Given the description of an element on the screen output the (x, y) to click on. 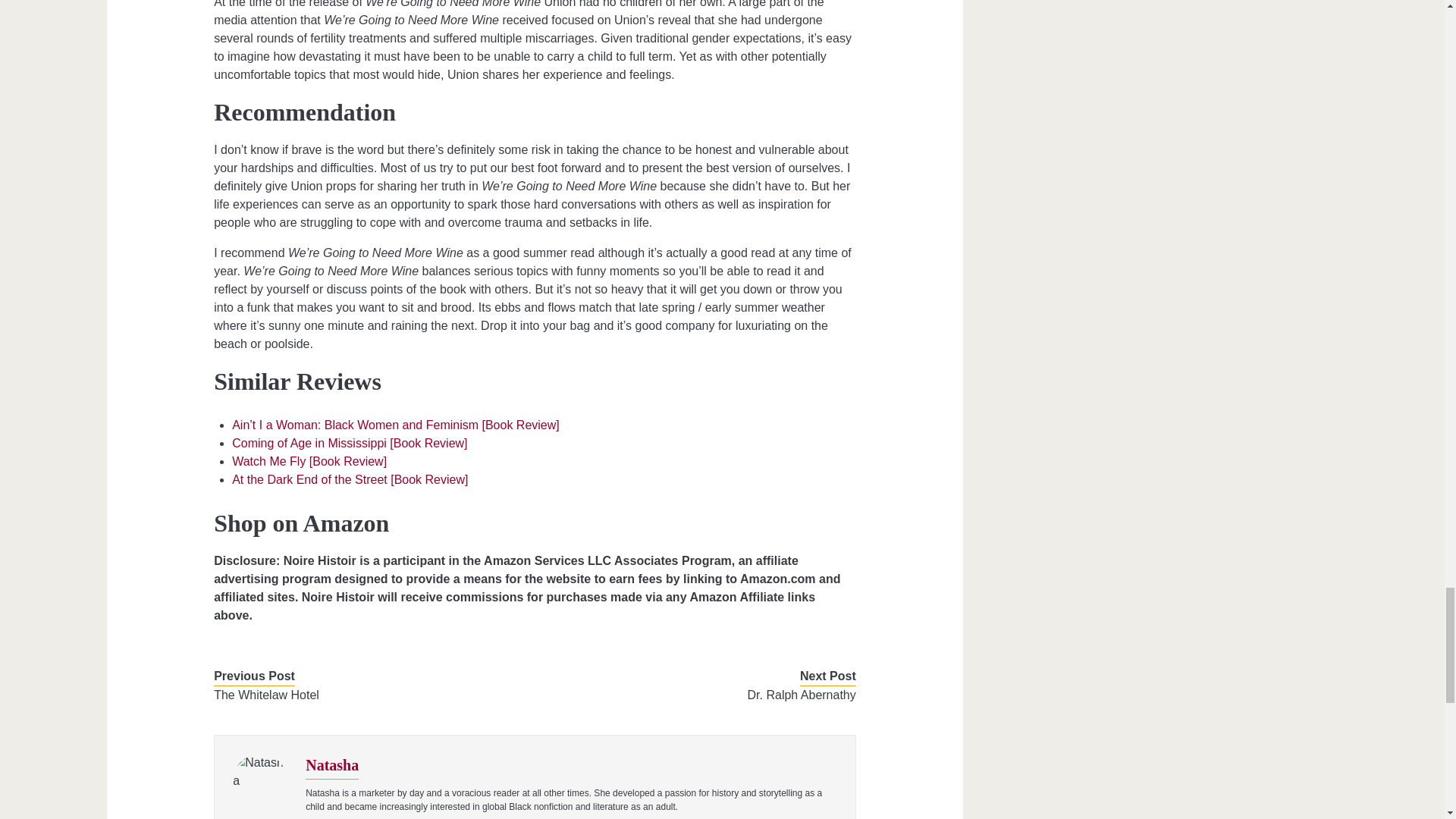
Natasha (331, 764)
Dr. Ralph Abernathy (708, 695)
The Whitelaw Hotel (361, 695)
